Given the description of an element on the screen output the (x, y) to click on. 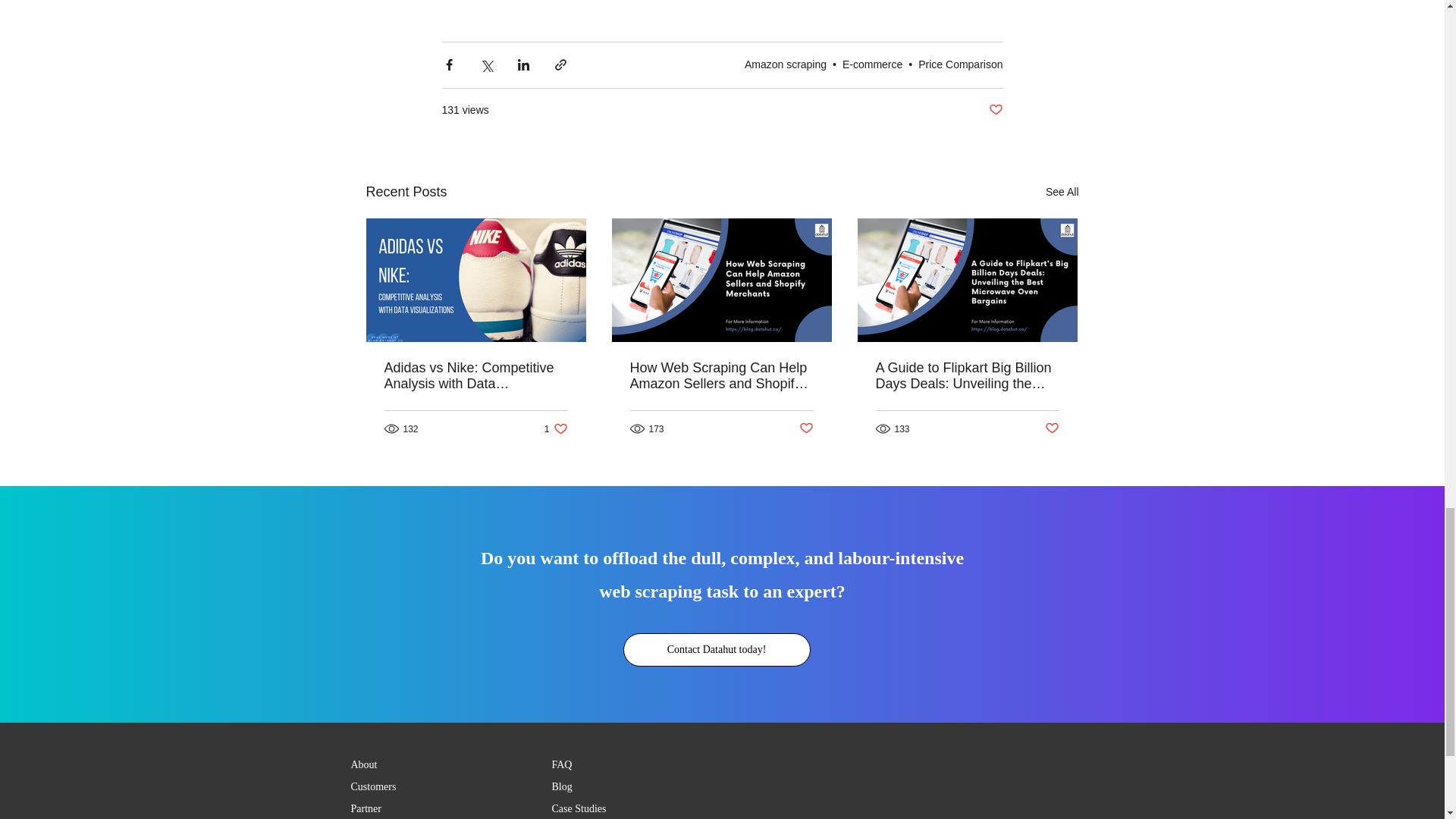
Price Comparison (960, 64)
About (555, 428)
Post not marked as liked (363, 764)
E-commerce (806, 428)
Amazon scraping (872, 64)
Blog (785, 64)
Post not marked as liked (561, 786)
